Given the description of an element on the screen output the (x, y) to click on. 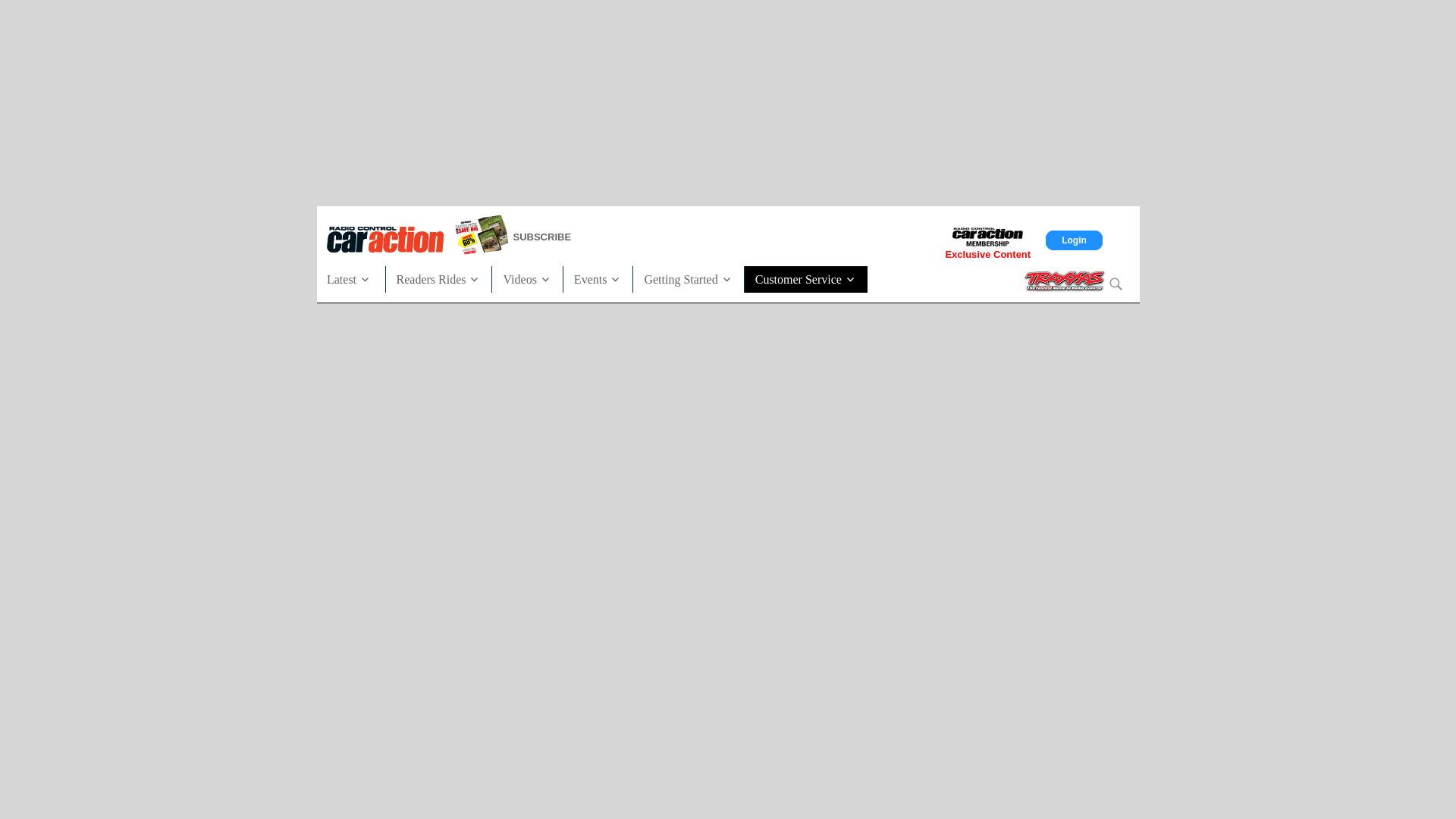
SUBSCRIBE (603, 236)
Readers Rides (438, 278)
Login (1073, 240)
3rd party ad content (727, 100)
Latest (354, 278)
Videos (527, 278)
